Given the description of an element on the screen output the (x, y) to click on. 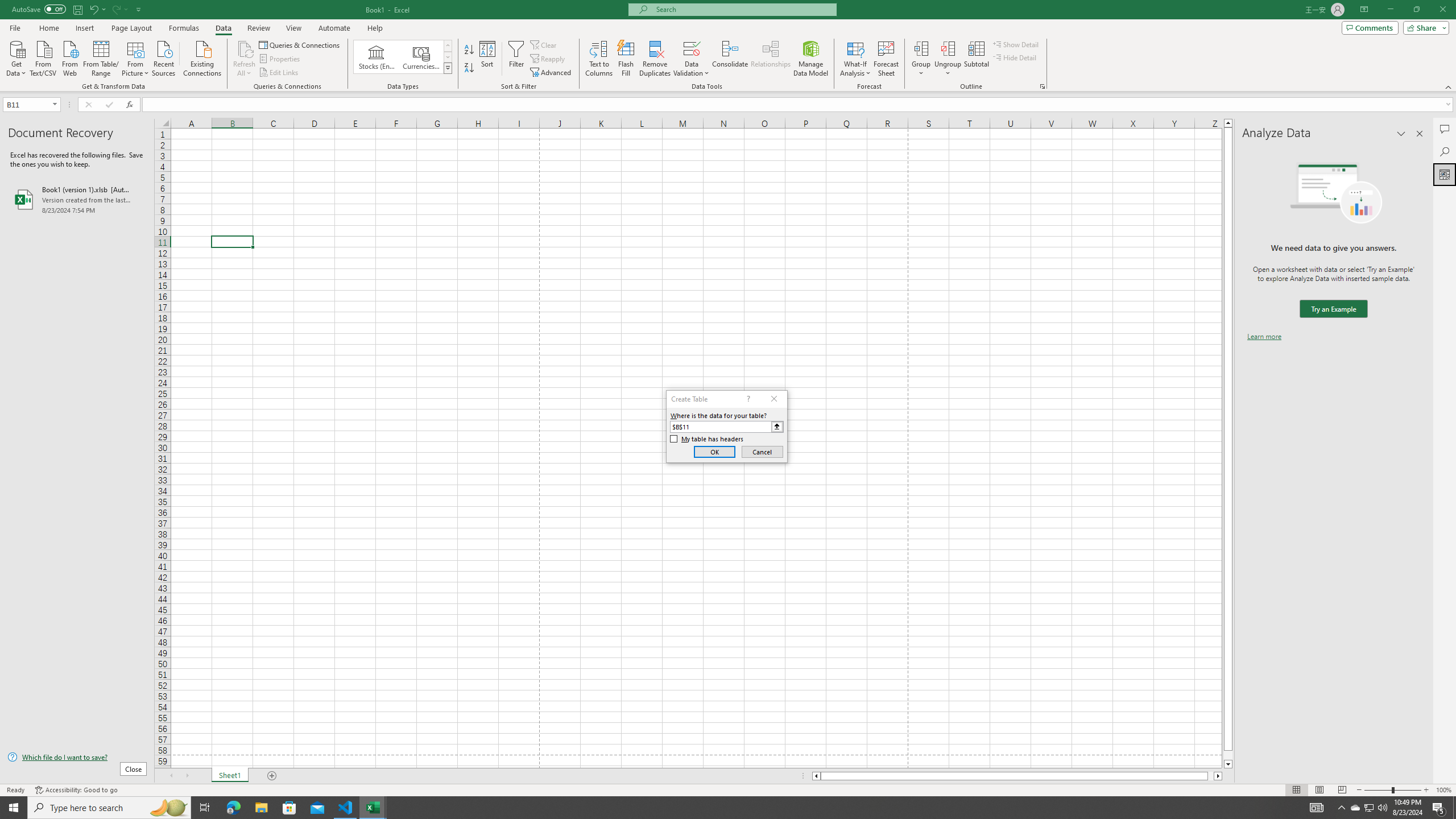
Consolidate... (729, 58)
Existing Connections (202, 57)
Edit Links (279, 72)
From Web (69, 57)
Stocks (English) (375, 56)
